Given the description of an element on the screen output the (x, y) to click on. 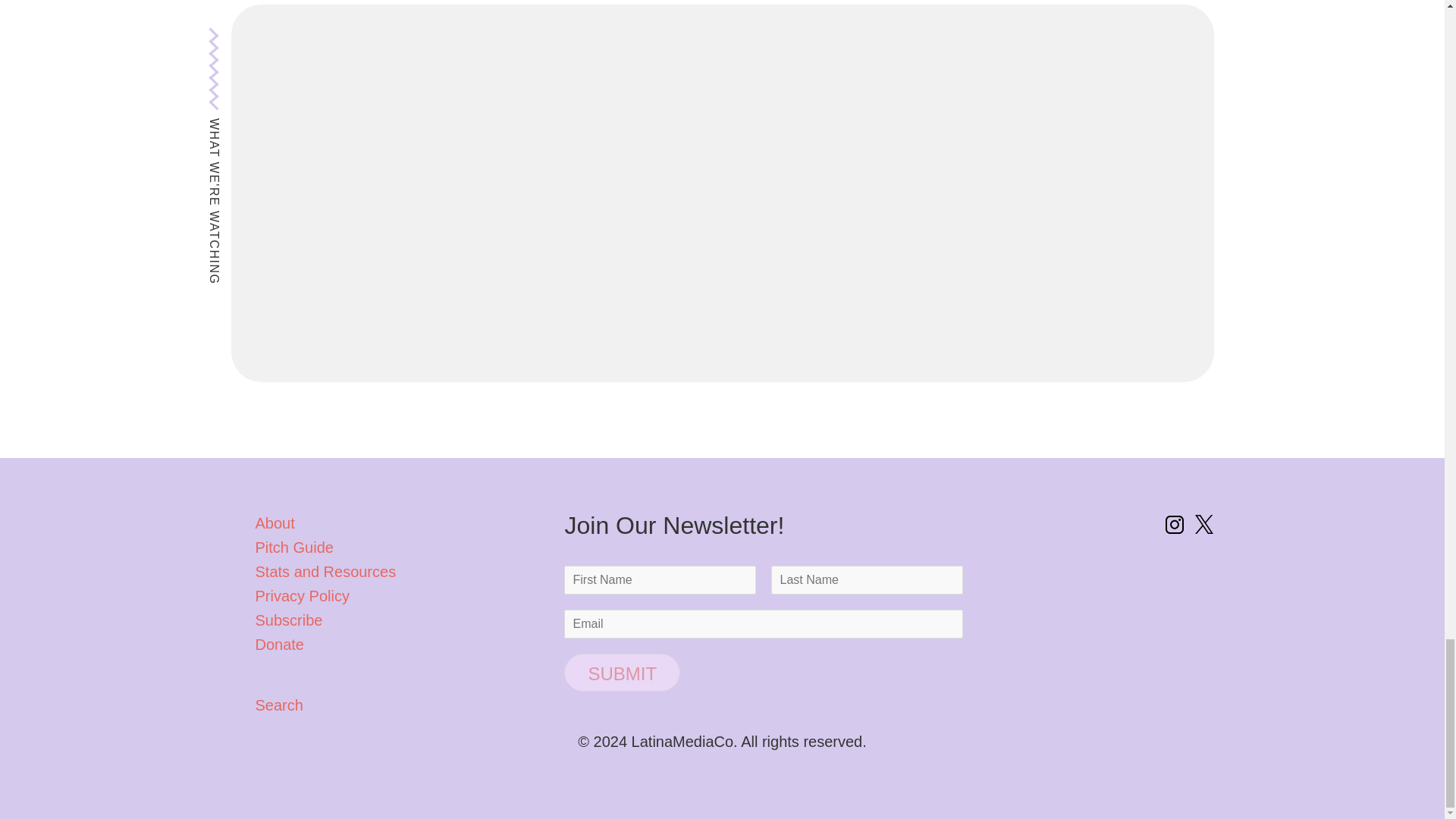
Privacy Policy (301, 596)
Pitch Guide (293, 547)
Subscribe (287, 619)
Stats and Resources (325, 571)
Search (400, 704)
SUBMIT (621, 672)
Donate (279, 644)
About (274, 523)
